Given the description of an element on the screen output the (x, y) to click on. 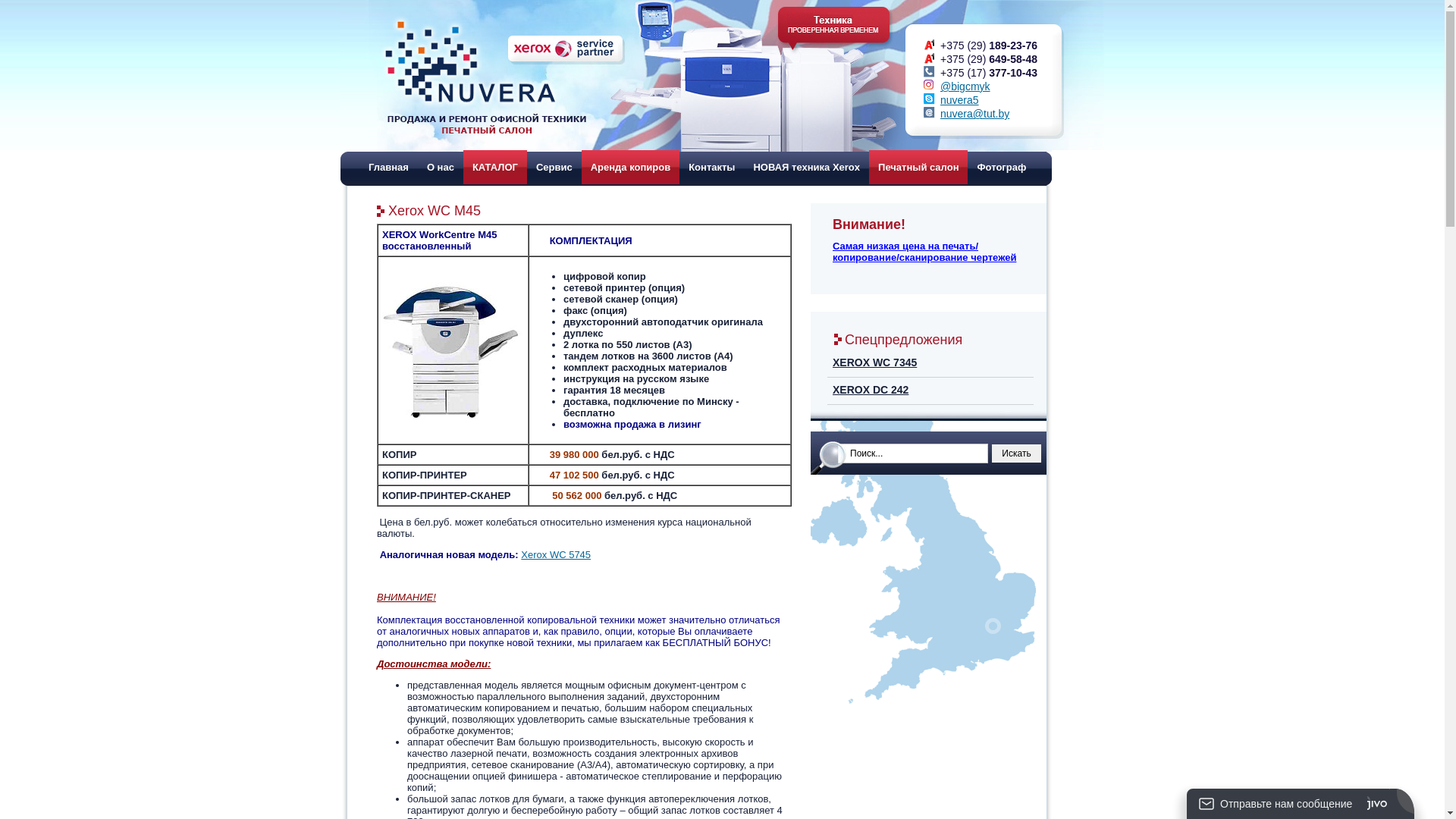
XEROX WC 7345 Element type: text (928, 281)
nuvera.by Element type: hover (495, 75)
nuvera@tut.by Element type: text (974, 113)
nuvera5 Element type: text (959, 100)
@bigcmyk Element type: text (965, 86)
Xerox WC 5745 Element type: text (555, 554)
